Given the description of an element on the screen output the (x, y) to click on. 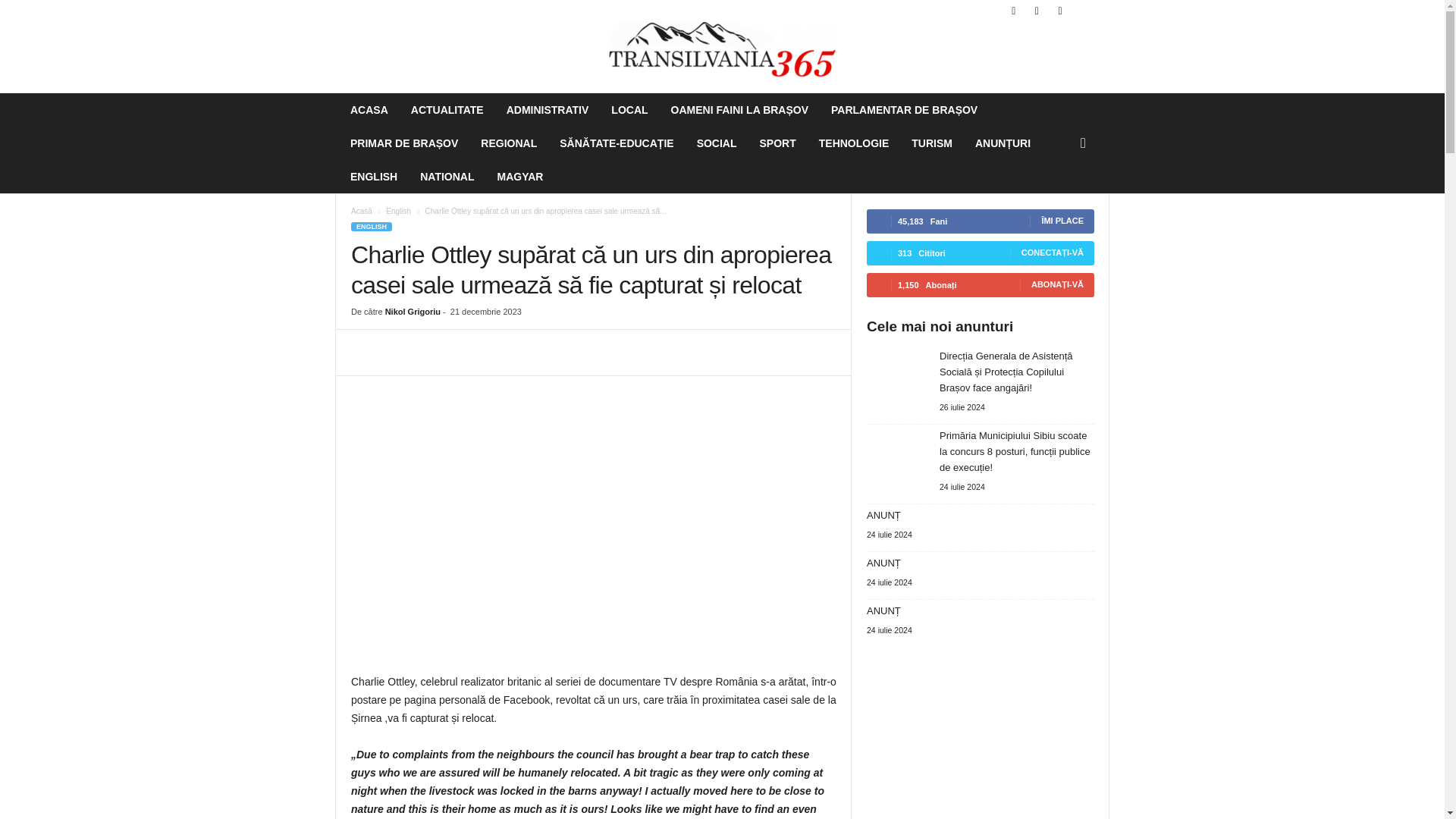
ACTUALITATE (446, 109)
SPORT (778, 142)
SOCIAL (716, 142)
REGIONAL (508, 142)
ACASA (368, 109)
TEHNOLOGIE (854, 142)
TURISM (931, 142)
ADMINISTRATIV (547, 109)
LOCAL (629, 109)
